Given the description of an element on the screen output the (x, y) to click on. 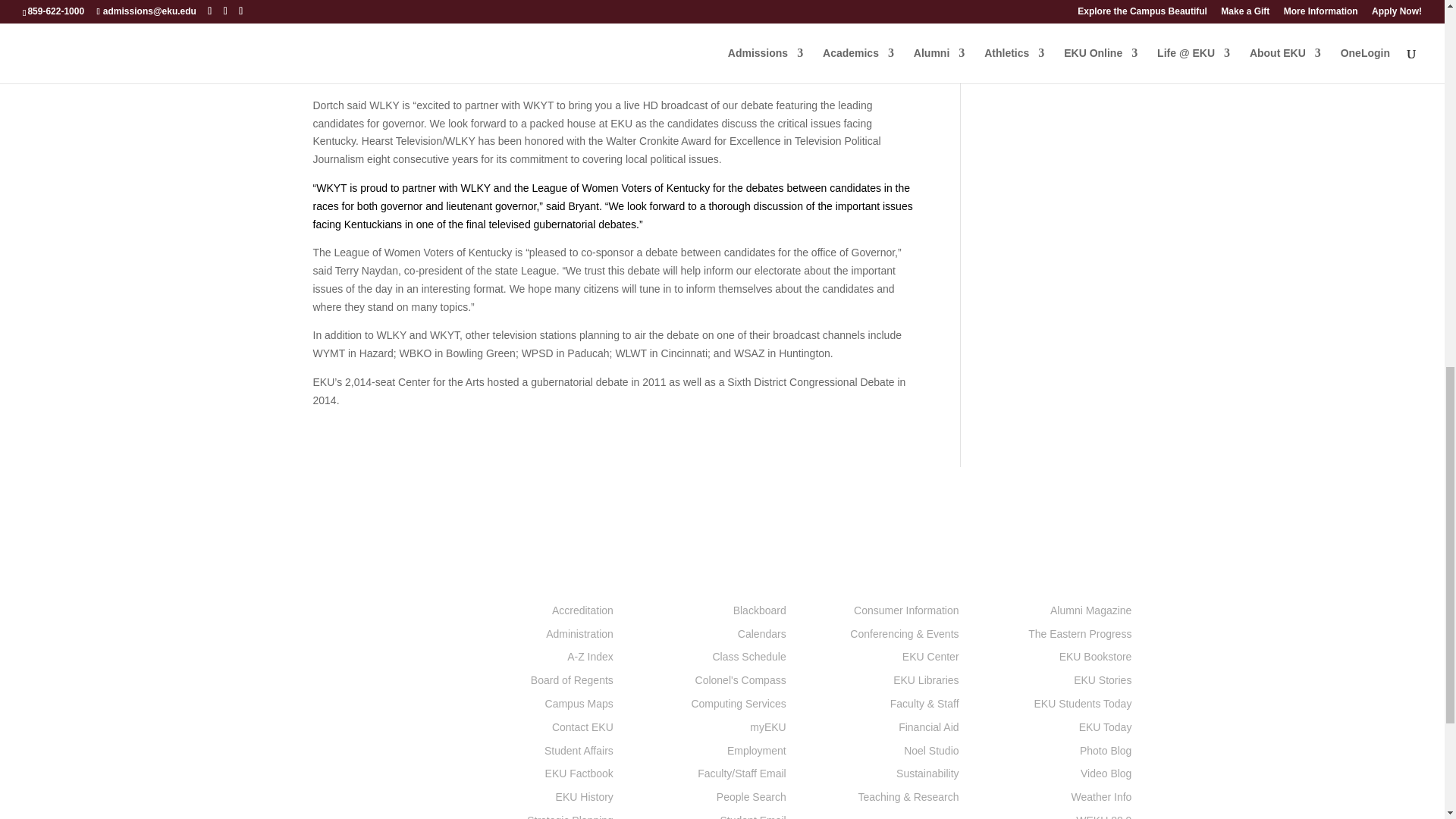
Follow on Youtube (415, 754)
Follow on Instagram (384, 754)
Follow on Facebook (324, 754)
Follow on X (354, 754)
